Given the description of an element on the screen output the (x, y) to click on. 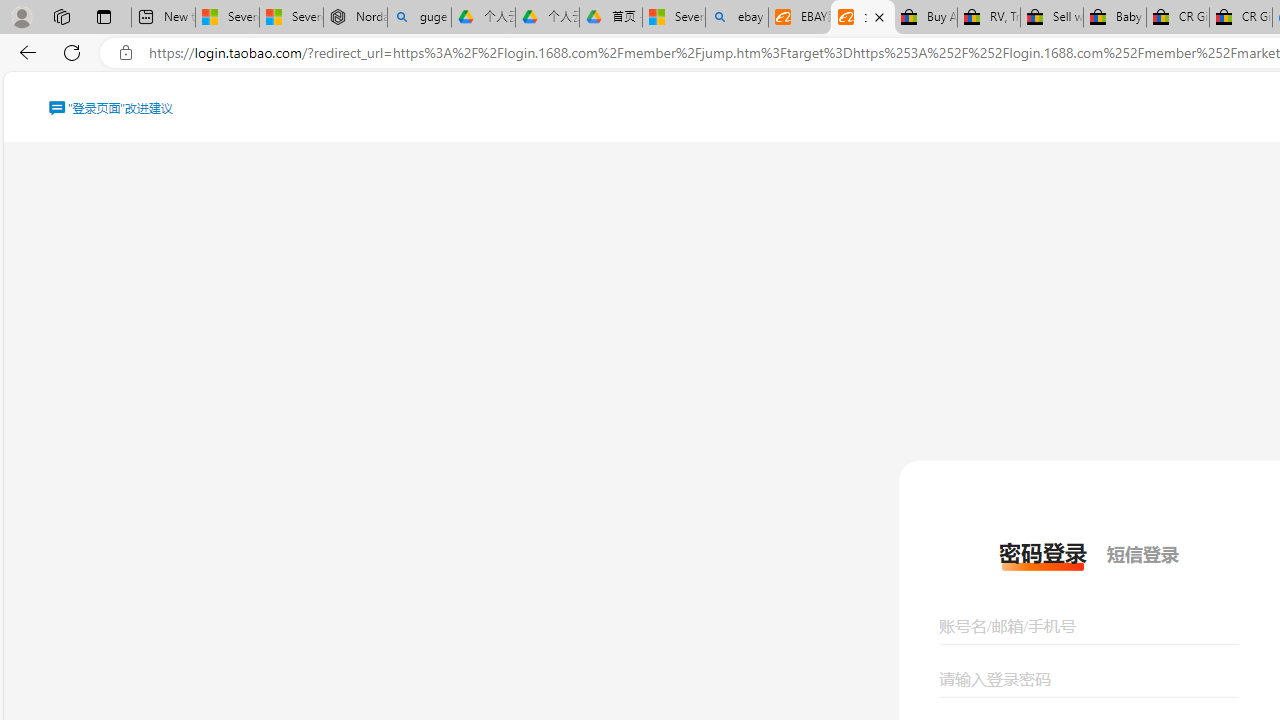
Buy Auto Parts & Accessories | eBay (925, 17)
